Given the description of an element on the screen output the (x, y) to click on. 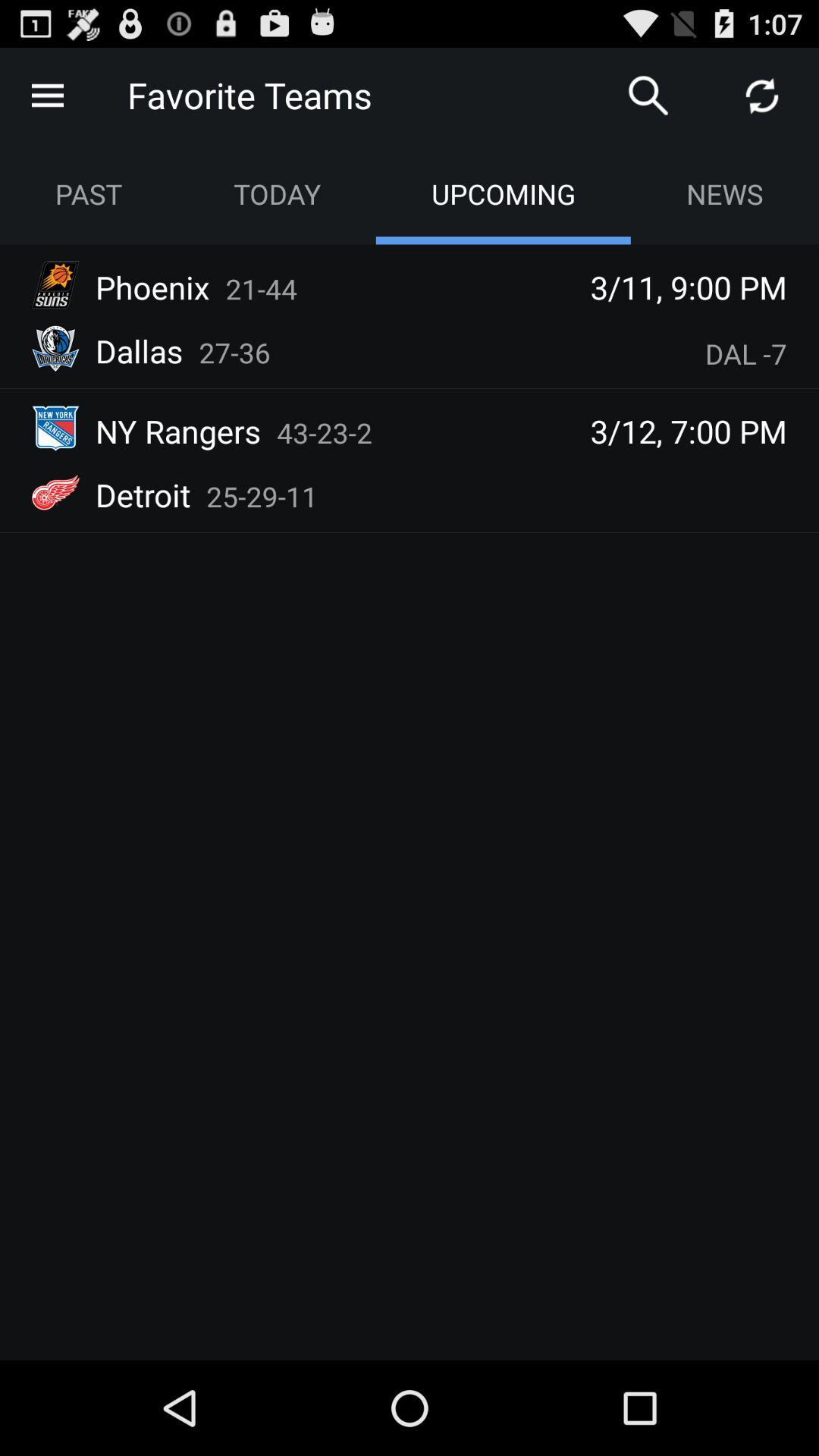
share (762, 95)
